Given the description of an element on the screen output the (x, y) to click on. 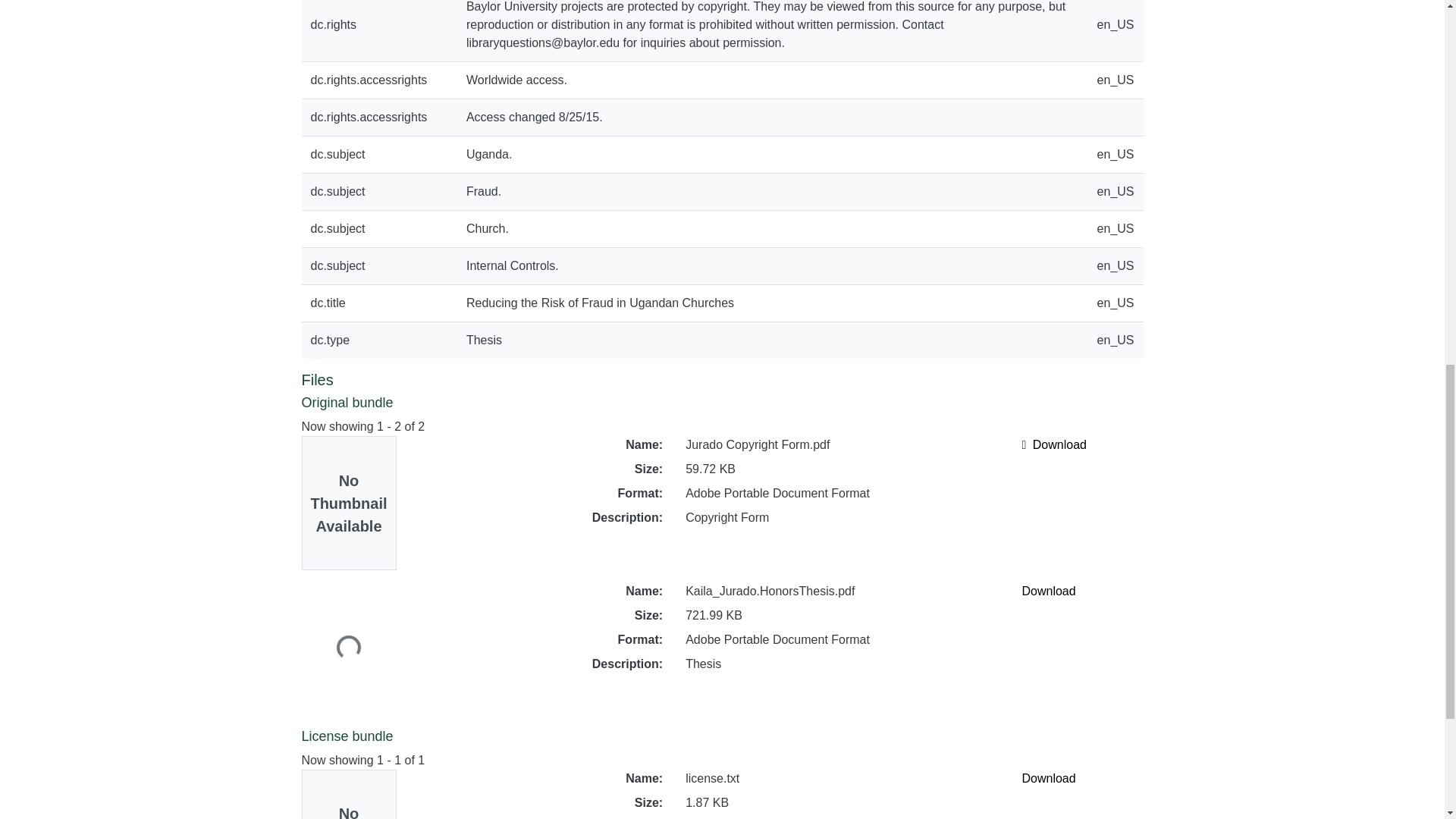
Download (1048, 778)
Download (1048, 590)
Download (1054, 444)
